Given the description of an element on the screen output the (x, y) to click on. 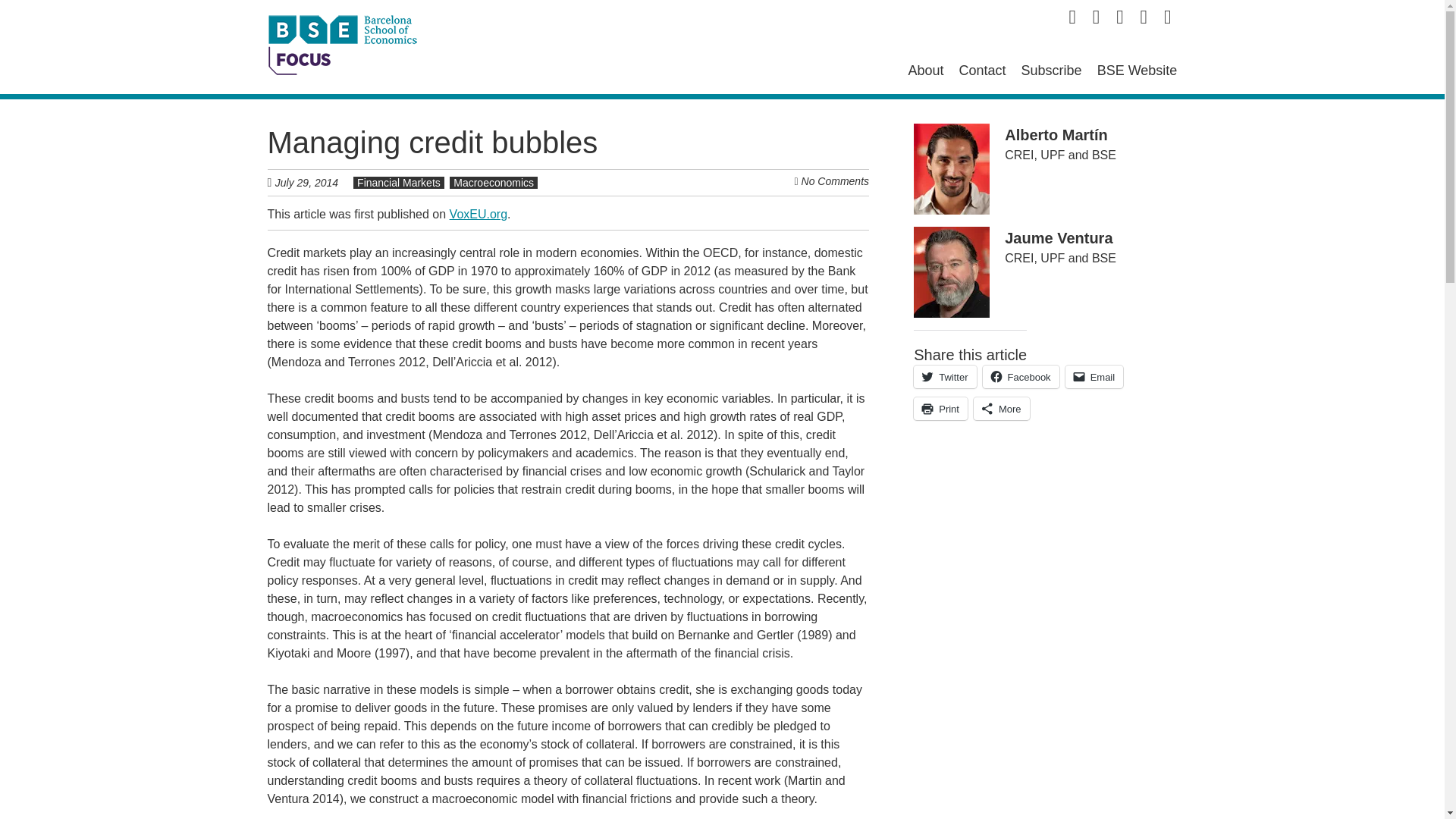
Contact (982, 70)
Subscribe (1051, 70)
Facebook (1020, 376)
Macroeconomics (493, 182)
About BSE Focus (925, 70)
Connect with BSE on LinkedIn (1119, 16)
Contact BSE Focus (982, 70)
BSE Website (1137, 70)
Jaume Ventura (1058, 238)
Follow BSE on Instagram (1167, 16)
About (925, 70)
No Comments (835, 181)
